Given the description of an element on the screen output the (x, y) to click on. 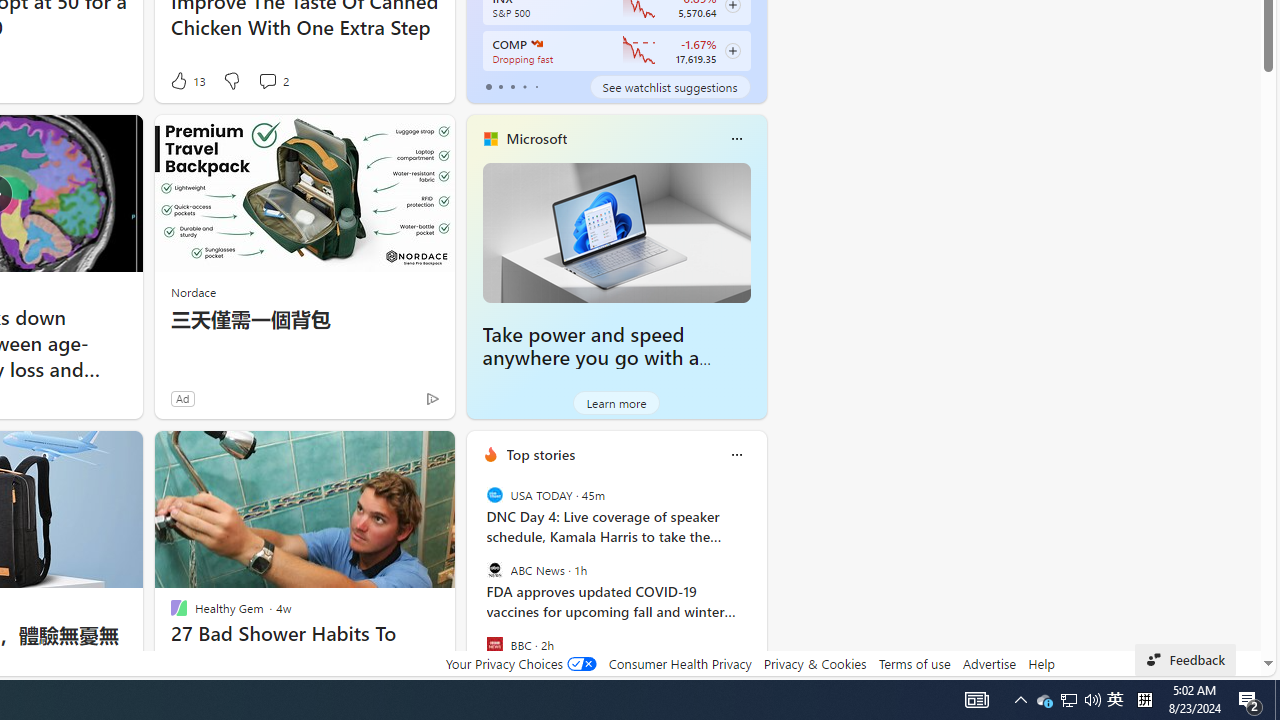
Privacy & Cookies (814, 663)
next (756, 583)
Ad (182, 398)
Consumer Health Privacy (680, 663)
Learn more (616, 402)
Take power and speed anywhere you go with a Windows laptop. (591, 357)
tab-3 (524, 86)
Class: follow-button  m (732, 51)
USA TODAY (494, 494)
See watchlist suggestions (669, 86)
ABC News (494, 570)
Ad Choice (432, 398)
